Given the description of an element on the screen output the (x, y) to click on. 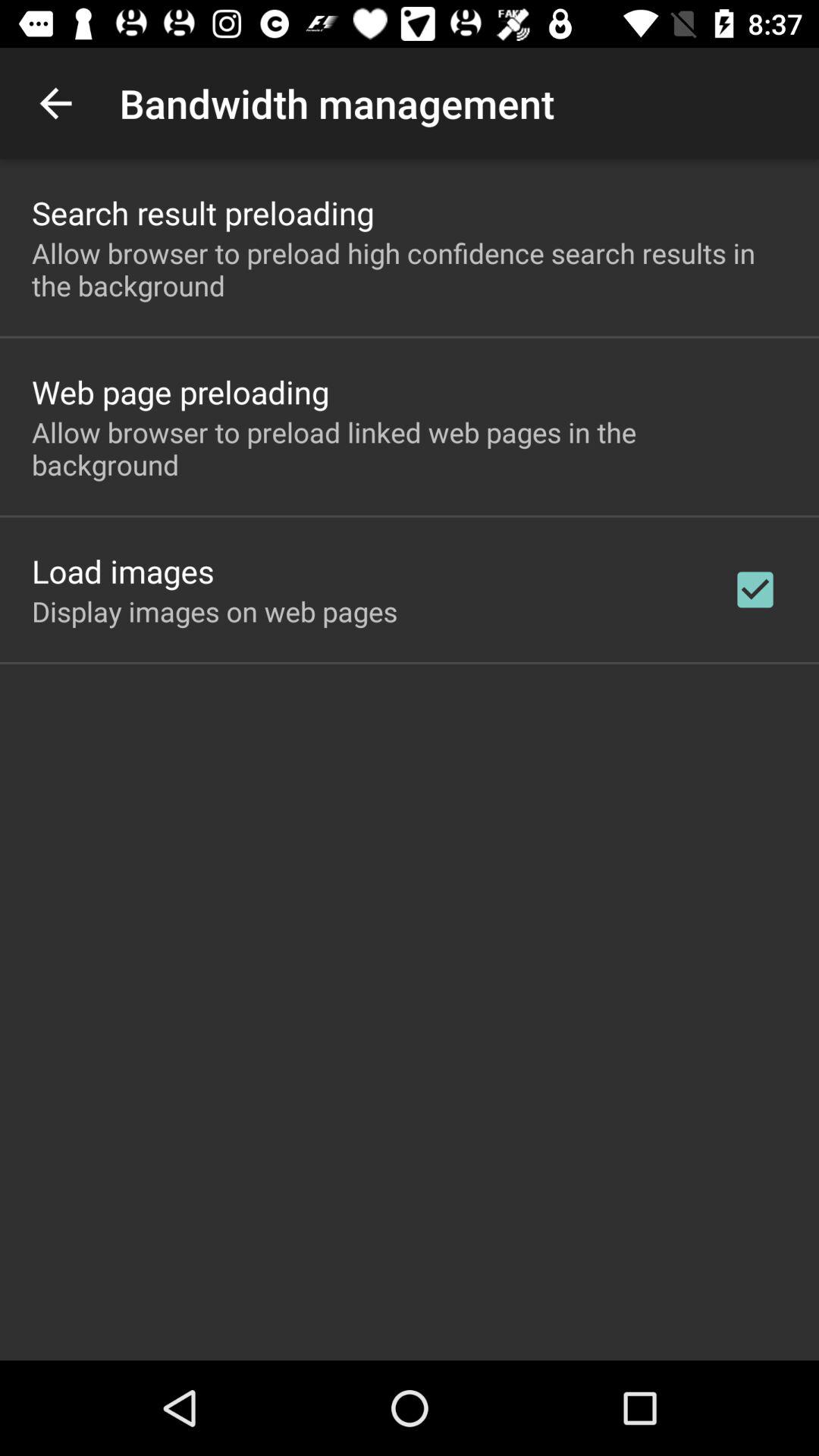
open icon above allow browser to icon (202, 212)
